Given the description of an element on the screen output the (x, y) to click on. 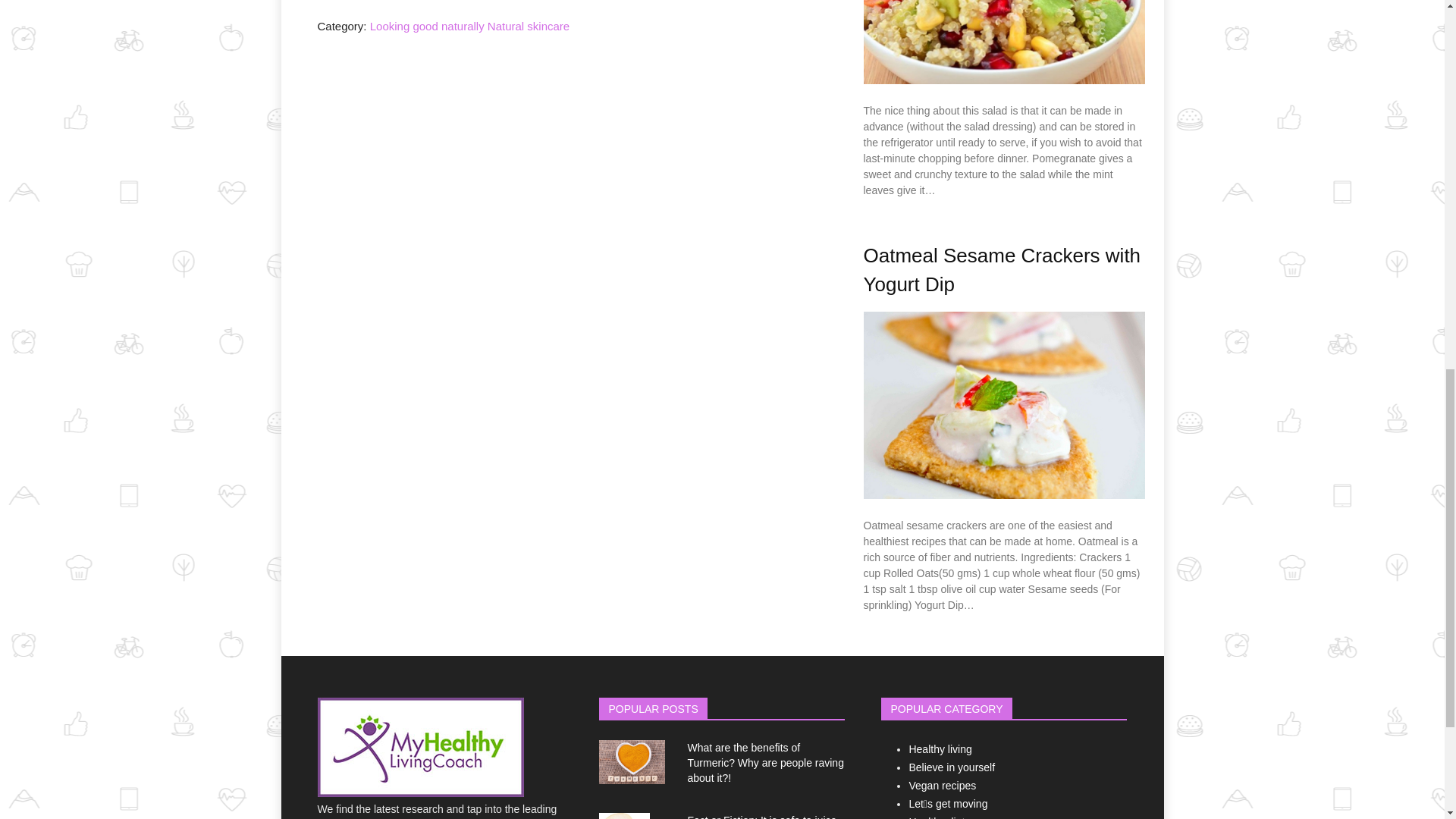
Oatmeal Sesame Crackers with Yogurt Dip (1001, 269)
Fact or Fiction: It is safe to juice whole apples (761, 816)
